Given the description of an element on the screen output the (x, y) to click on. 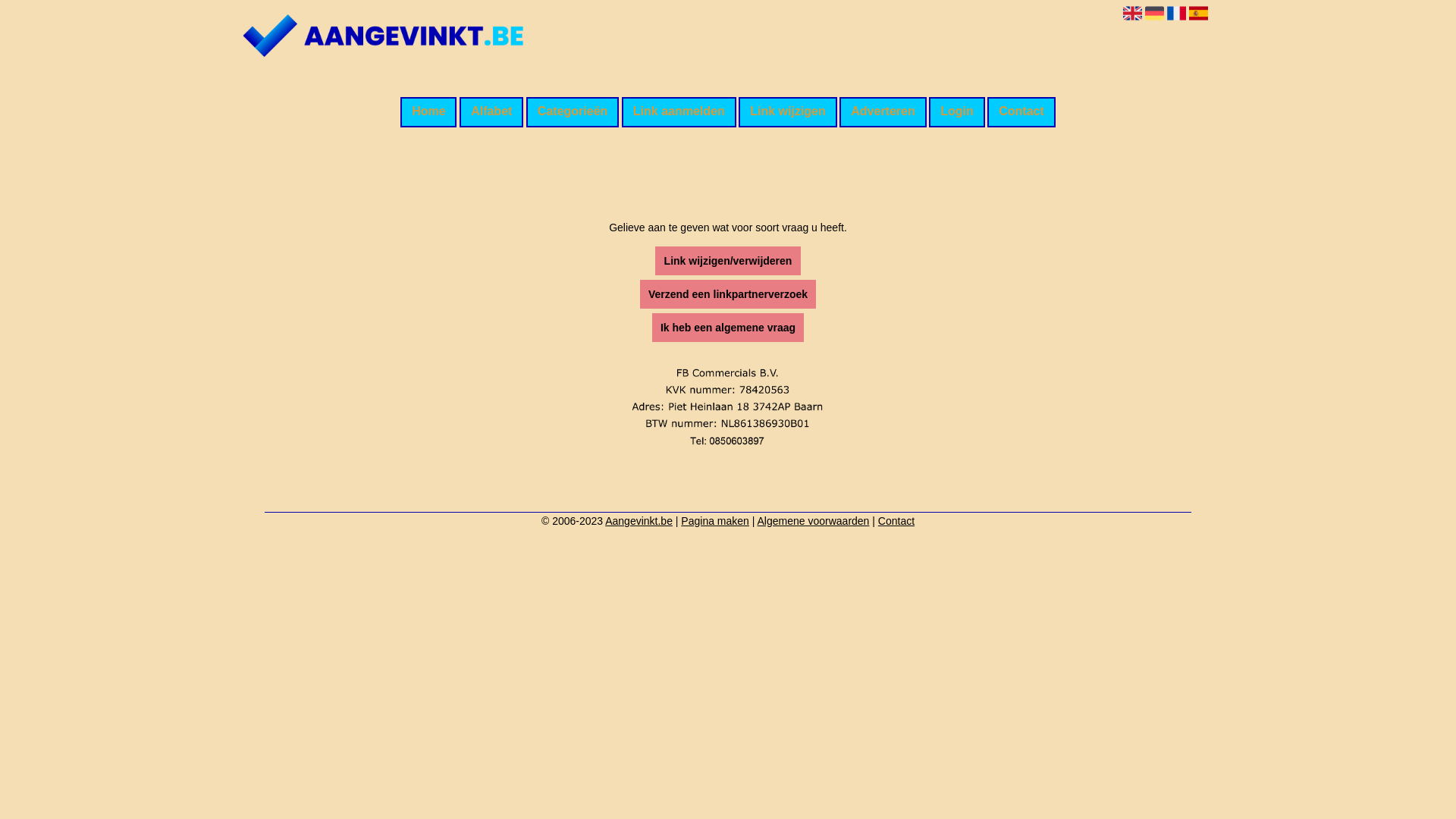
Contact Element type: text (896, 520)
Verzend een linkpartnerverzoek Element type: text (727, 293)
Login Element type: text (956, 112)
Link wijzigen Element type: text (787, 112)
Contact Element type: text (1020, 112)
Pagina maken Element type: text (714, 520)
Link wijzigen/verwijderen Element type: text (727, 260)
Alfabet Element type: text (491, 112)
Ik heb een algemene vraag Element type: text (728, 327)
Adverteren Element type: text (882, 112)
Aangevinkt.be Element type: text (638, 520)
Algemene voorwaarden Element type: text (813, 520)
Home Element type: text (428, 112)
Link aanmelden Element type: text (678, 112)
